Given the description of an element on the screen output the (x, y) to click on. 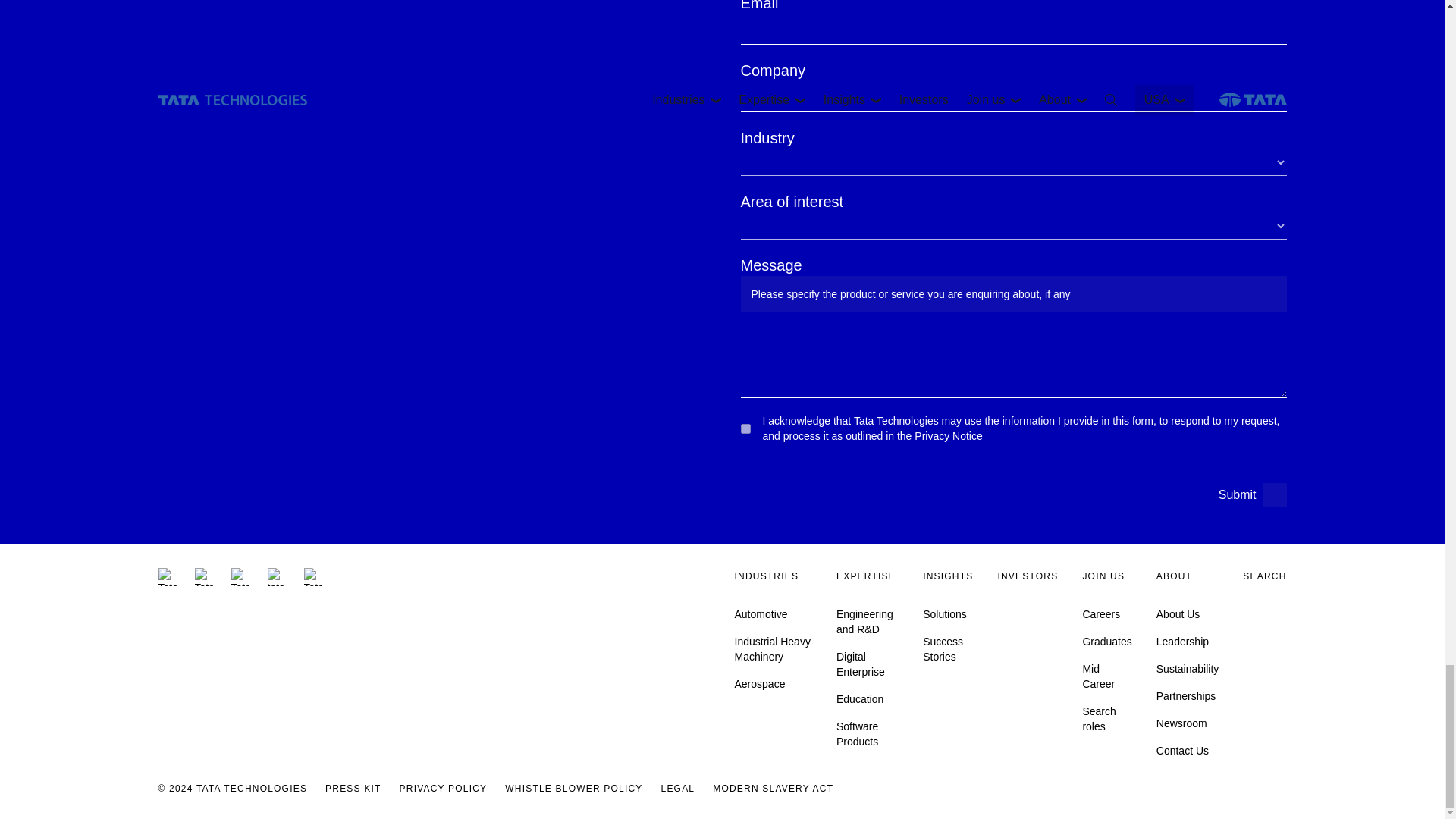
Yes (744, 429)
